Given the description of an element on the screen output the (x, y) to click on. 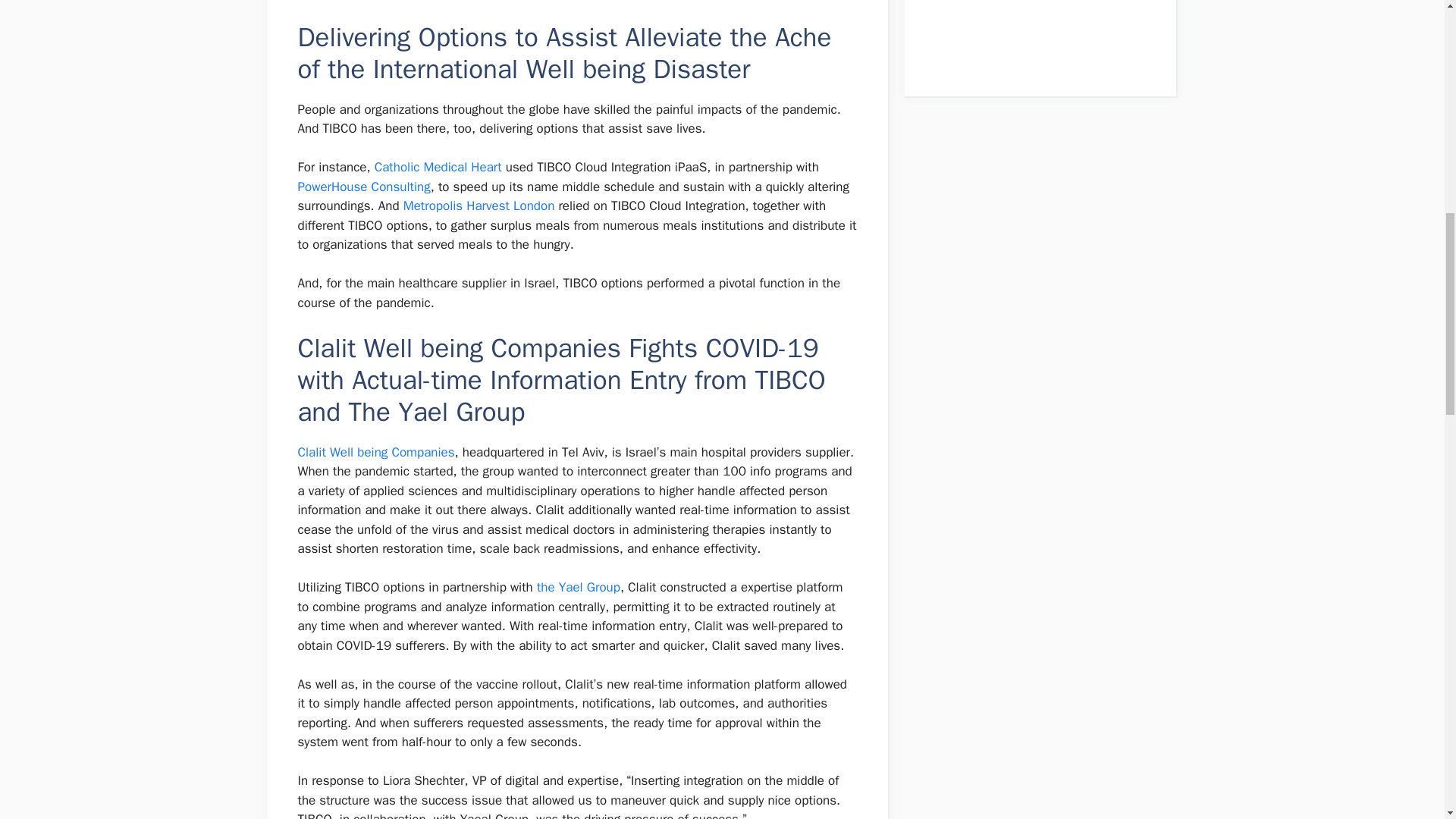
PowerHouse Consulting (363, 186)
Catholic Medical Heart (438, 166)
the Yael Group (578, 587)
Metropolis Harvest London (478, 205)
Advertisement (1031, 29)
Clalit Well being Companies (375, 452)
